Given the description of an element on the screen output the (x, y) to click on. 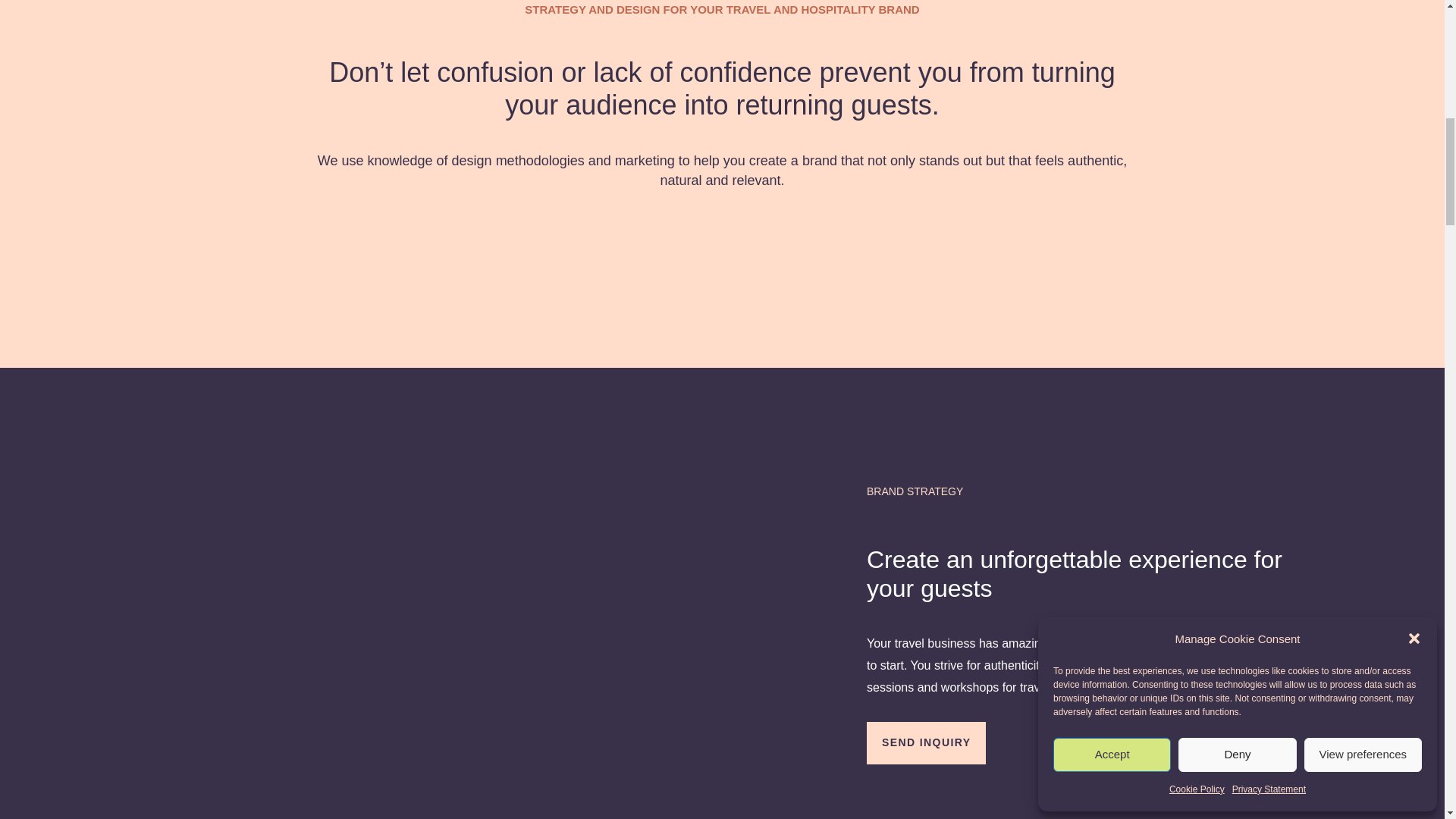
SEND INQUIRY (925, 742)
